Given the description of an element on the screen output the (x, y) to click on. 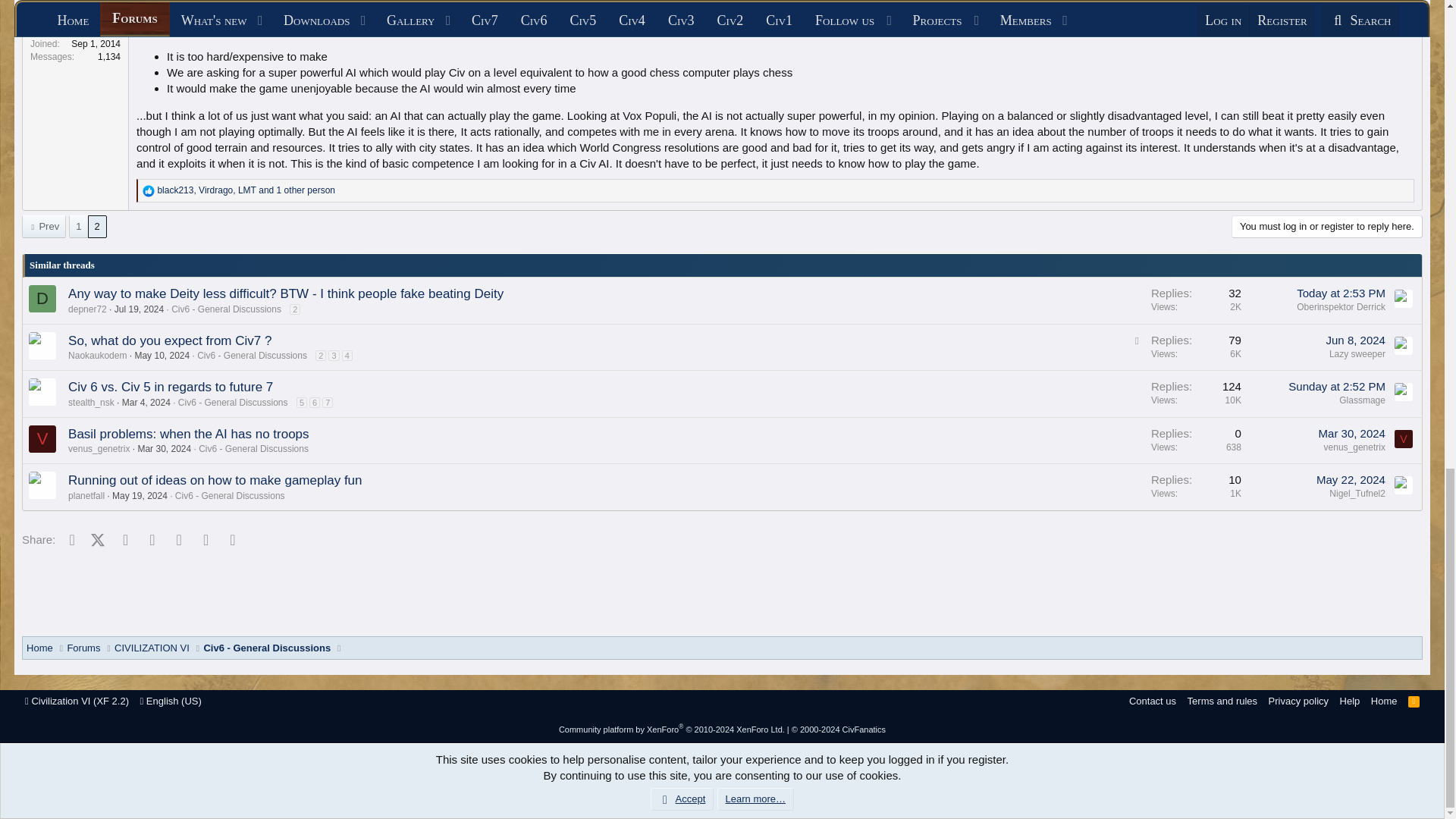
Jul 19, 2024 at 6:03 PM (139, 308)
Jul 31, 2024 at 2:53 PM (1341, 292)
First message reaction score: 1 (1195, 300)
Like (148, 191)
